Given the description of an element on the screen output the (x, y) to click on. 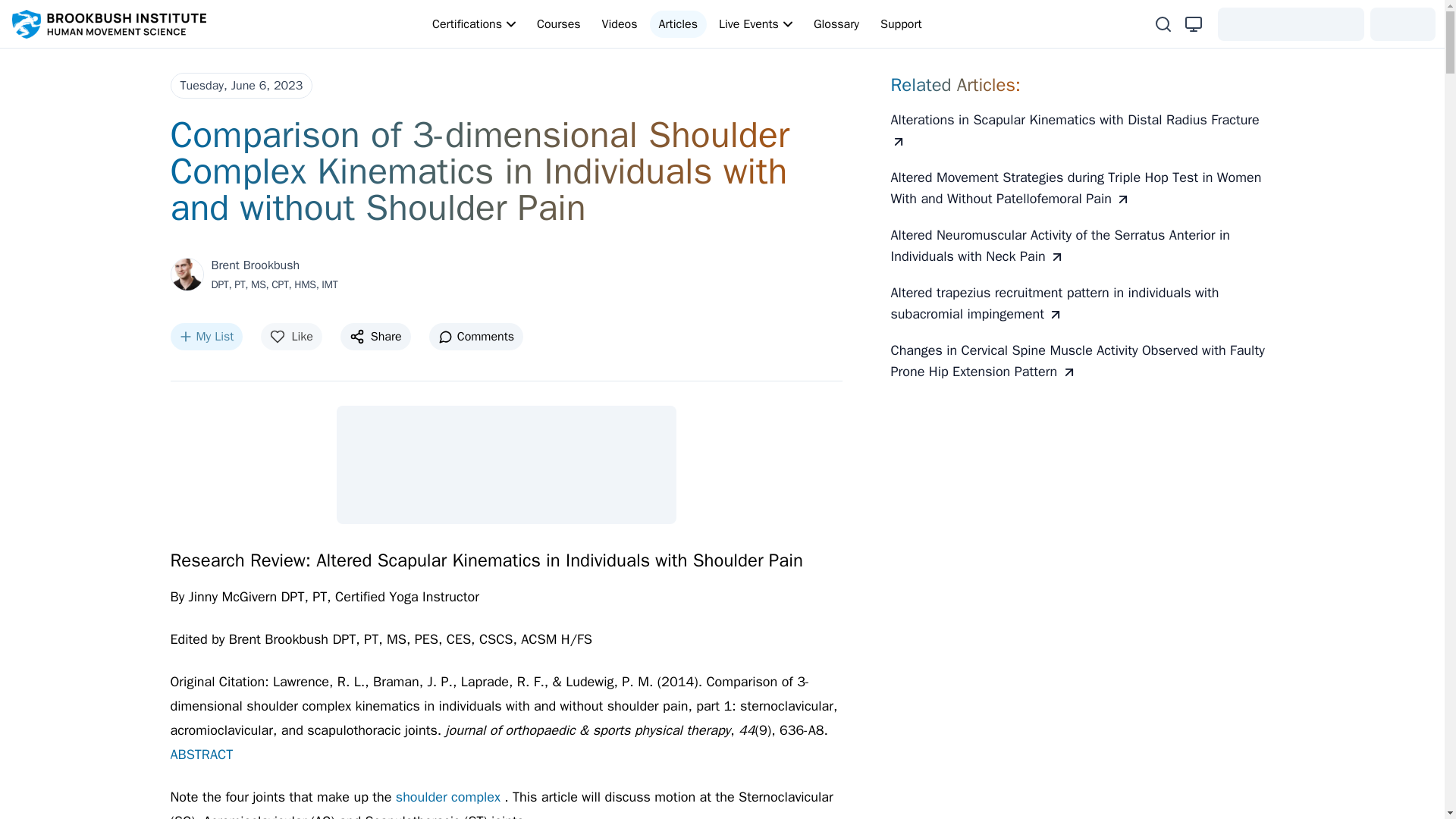
Like (290, 336)
Support (900, 23)
ABSTRACT (201, 754)
Share (375, 336)
Glossary (836, 23)
Comments (475, 336)
Articles (677, 23)
Videos (619, 23)
shoulder complex (449, 796)
My List (206, 336)
